Given the description of an element on the screen output the (x, y) to click on. 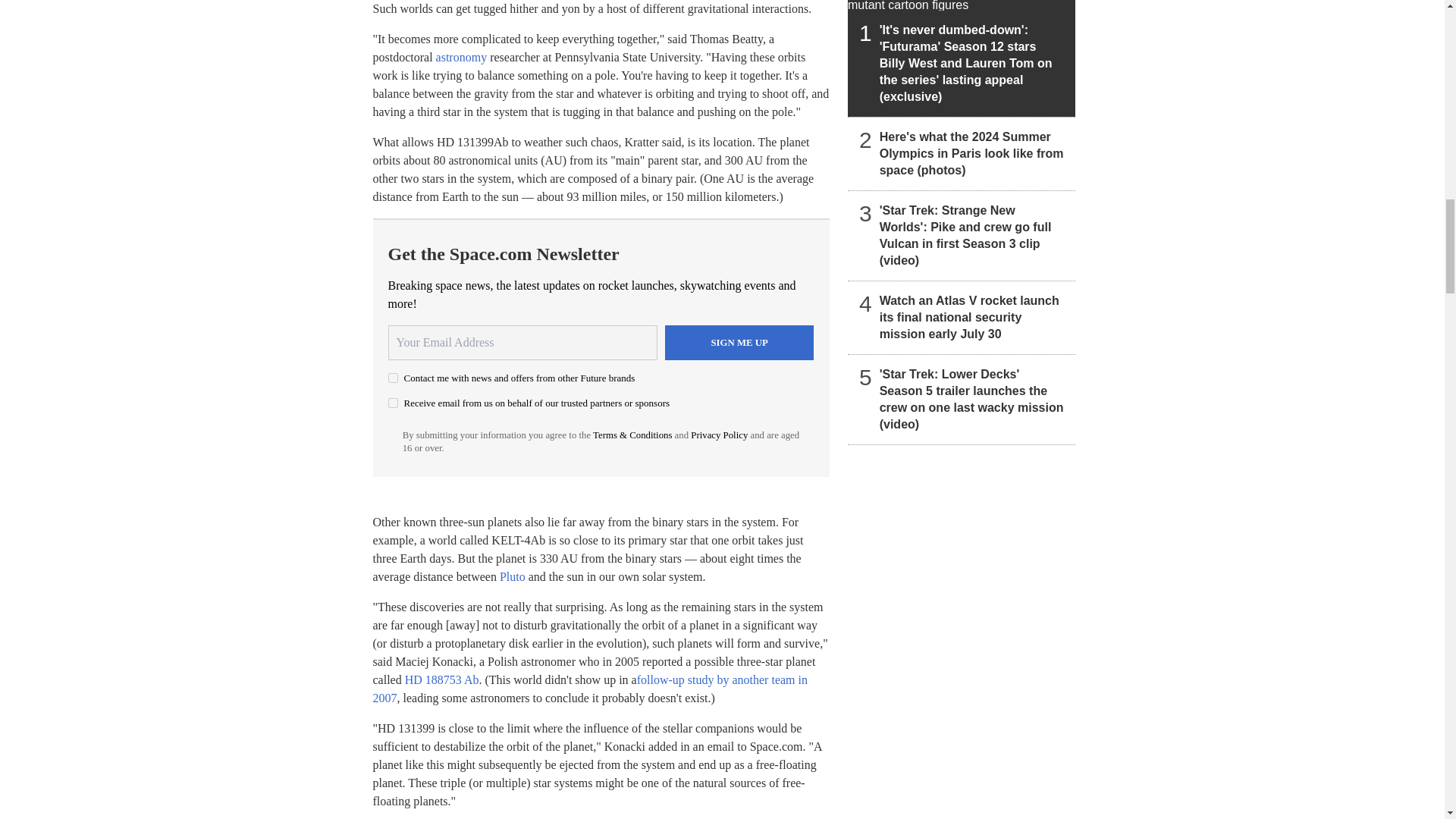
on (392, 402)
Sign me up (739, 342)
on (392, 378)
